Given the description of an element on the screen output the (x, y) to click on. 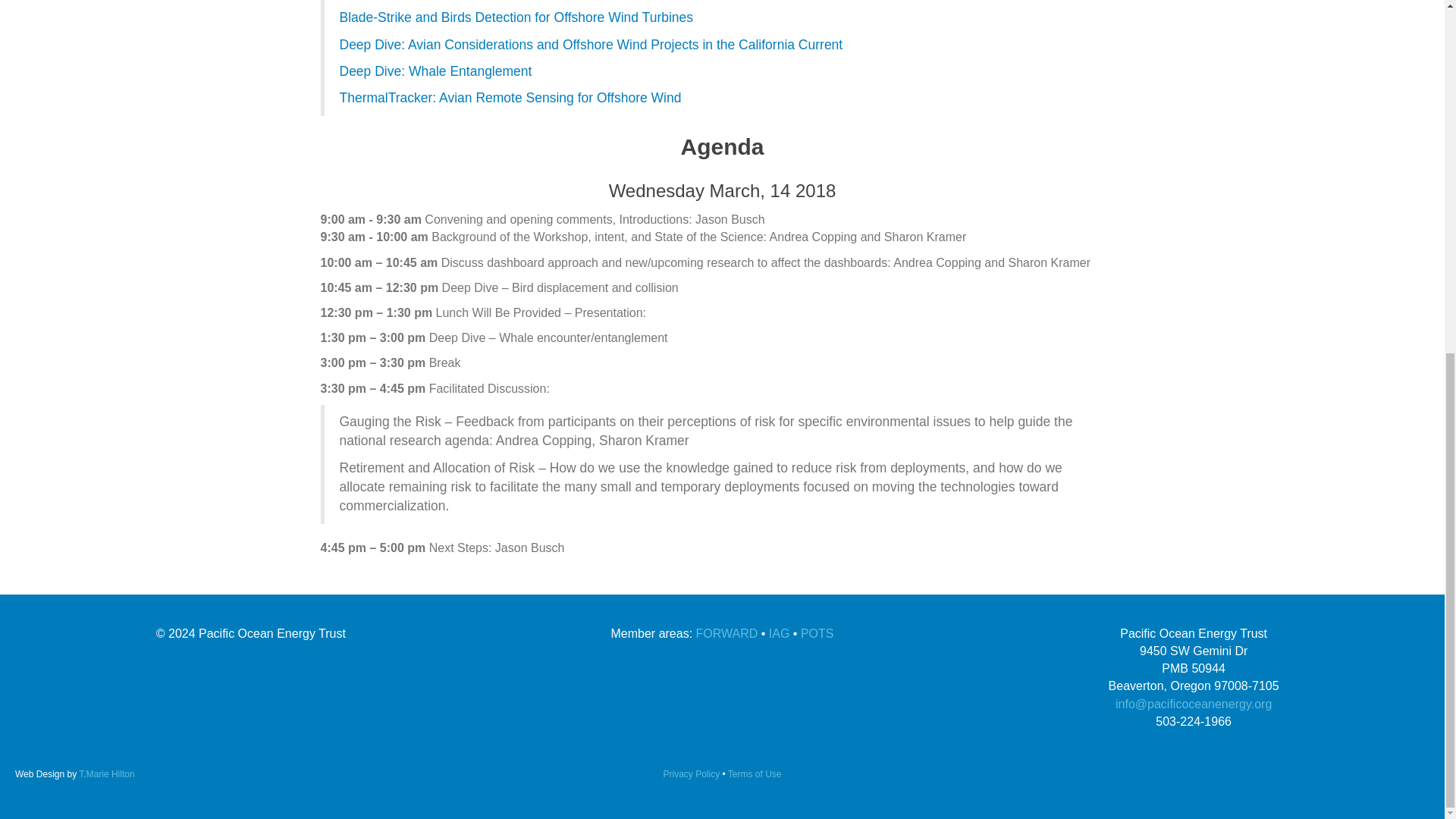
Privacy Policy (690, 774)
FORWARD (726, 633)
T.Marie Hilton (105, 774)
POTS (817, 633)
ThermalTracker: Avian Remote Sensing for Offshore Wind (510, 97)
Blade-Strike and Birds Detection for Offshore Wind Turbines (516, 17)
Deep Dive: Whale Entanglement (435, 70)
IAG (779, 633)
Terms of Use (754, 774)
